Given the description of an element on the screen output the (x, y) to click on. 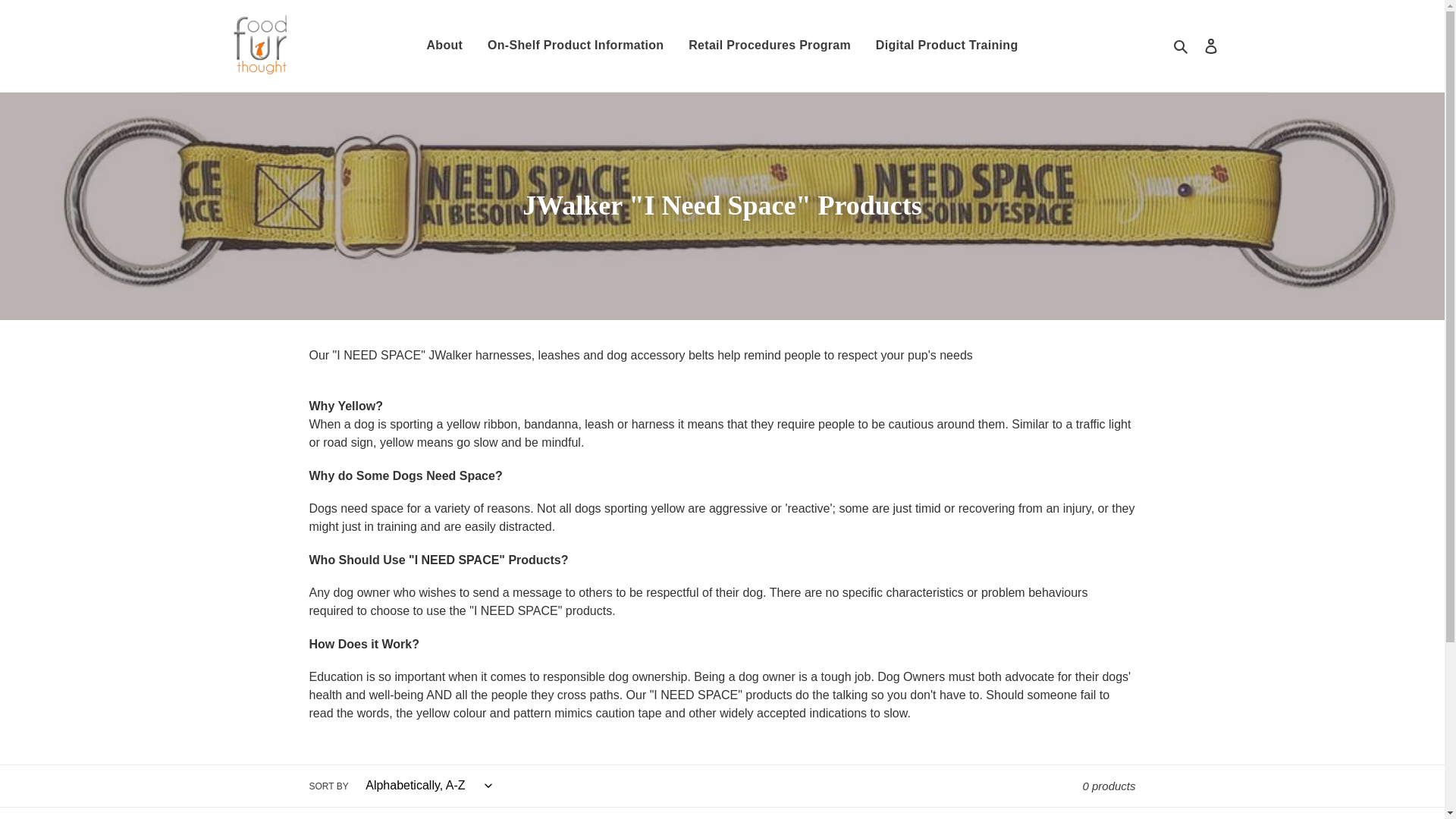
On-Shelf Product Information (575, 45)
Retail Procedures Program (770, 45)
About (444, 45)
Log in (1211, 45)
Digital Product Training (946, 45)
Search (1180, 45)
